Given the description of an element on the screen output the (x, y) to click on. 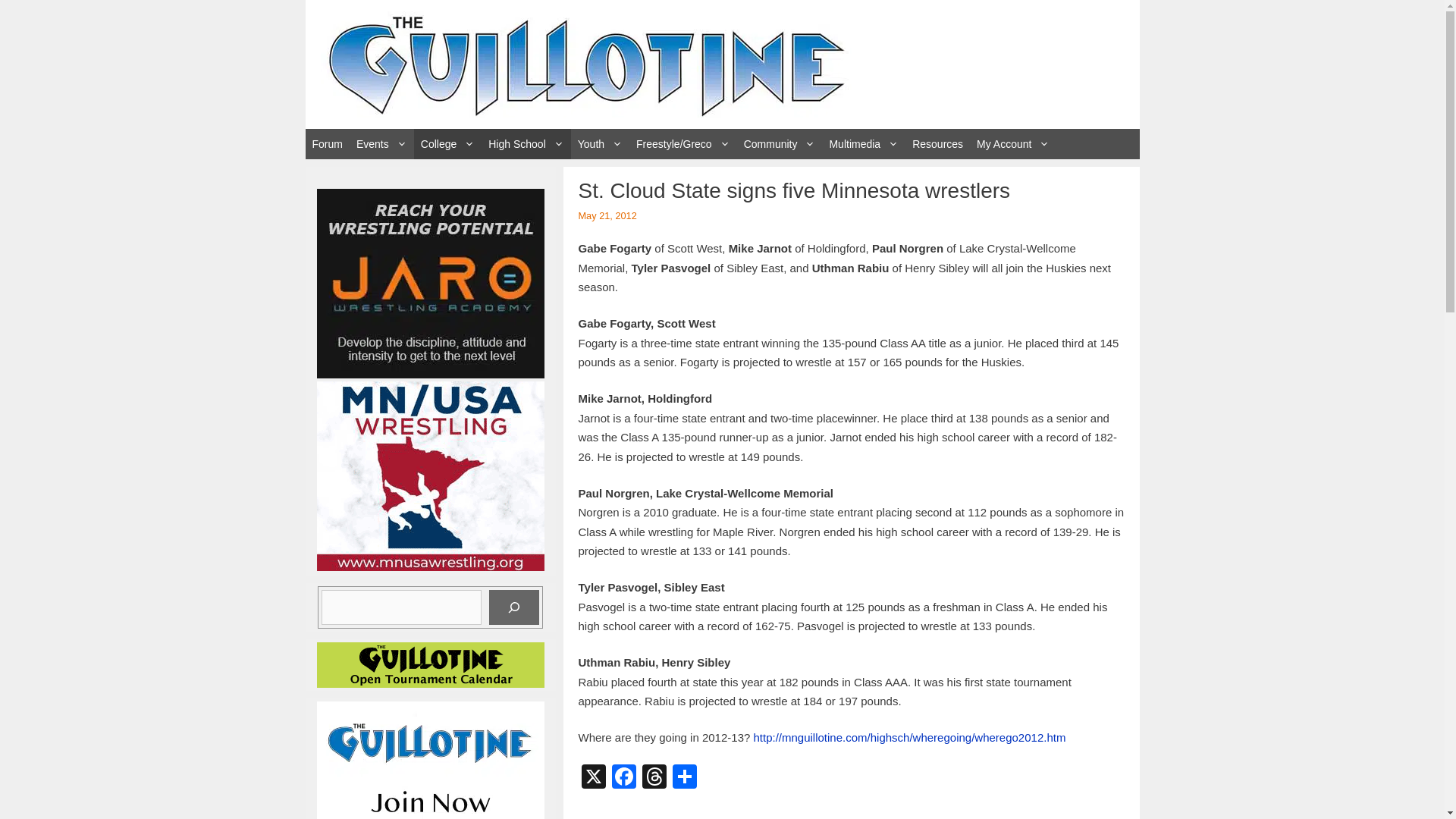
The Guillotine Events Calendar (381, 143)
High School (525, 143)
Forum (326, 143)
College News (447, 143)
Events (381, 143)
College (447, 143)
